Given the description of an element on the screen output the (x, y) to click on. 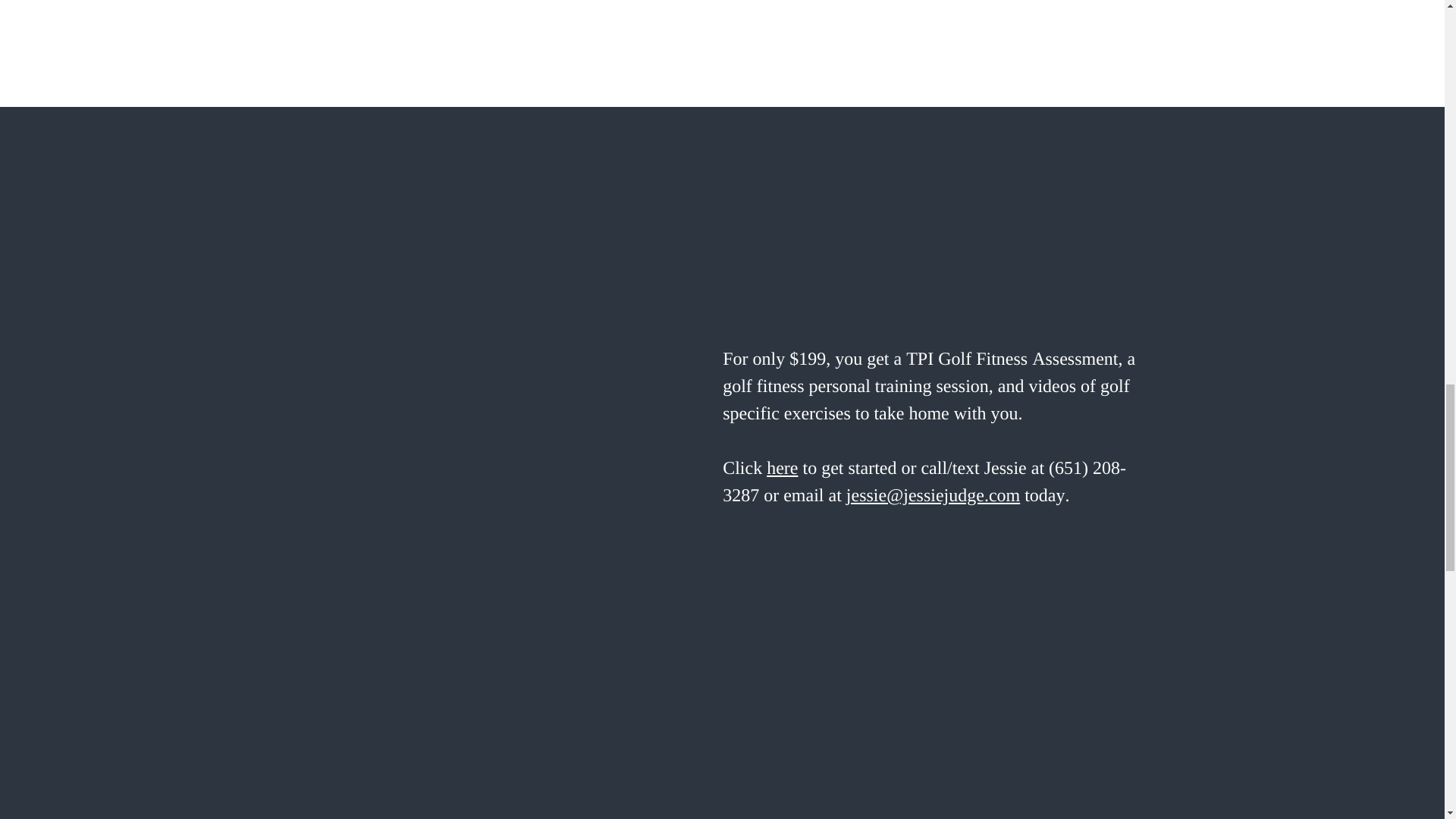
here (782, 468)
